Given the description of an element on the screen output the (x, y) to click on. 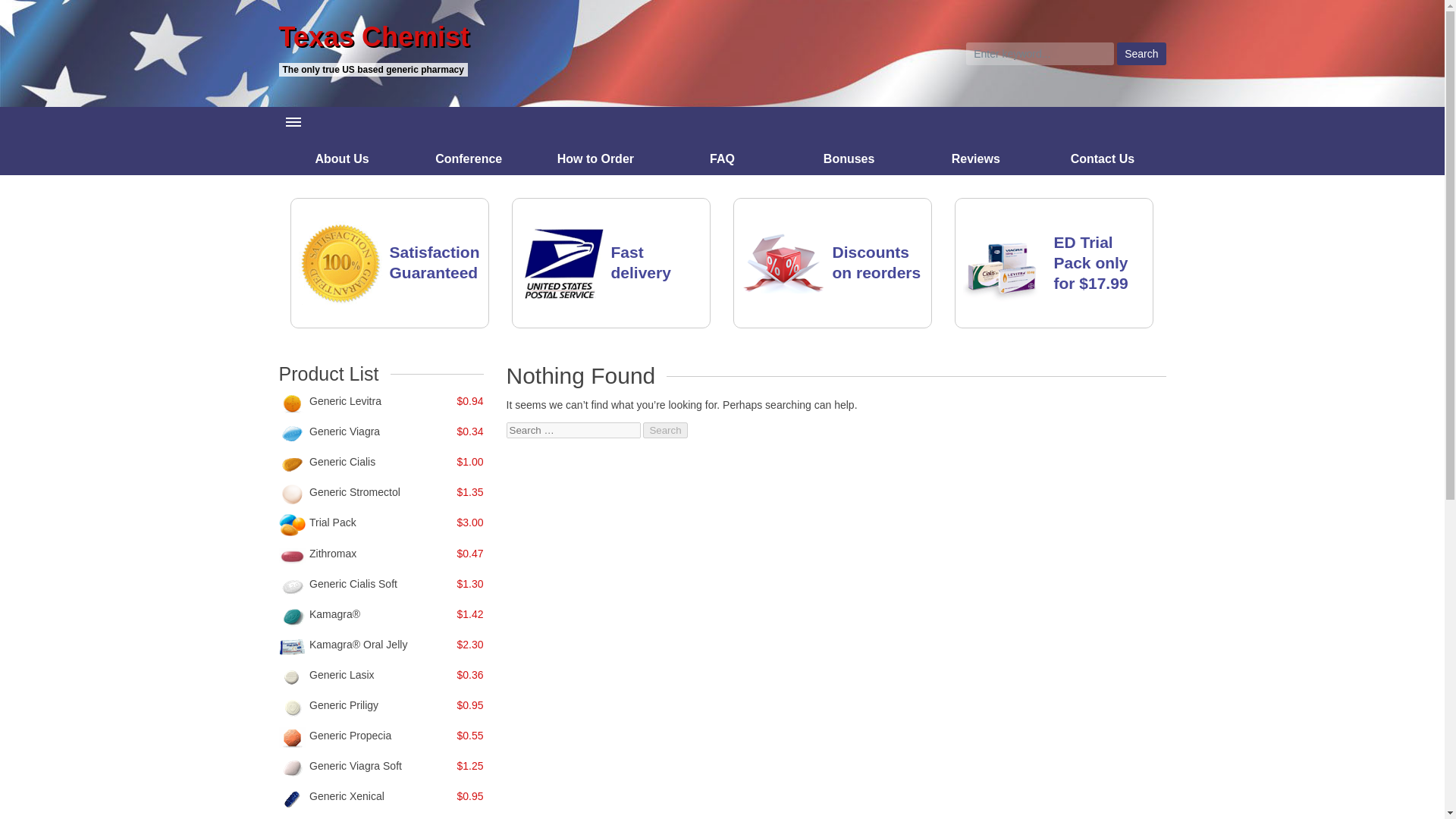
Generic Priligy (343, 705)
How to Order (595, 158)
Satisfaction Guaranteed (435, 262)
Generic Levitra (344, 400)
Generic Xenical (346, 796)
Generic Viagra Soft (354, 766)
Generic Cialis (341, 461)
Reviews (975, 158)
Conference (469, 158)
Texas Chemist (495, 36)
